Given the description of an element on the screen output the (x, y) to click on. 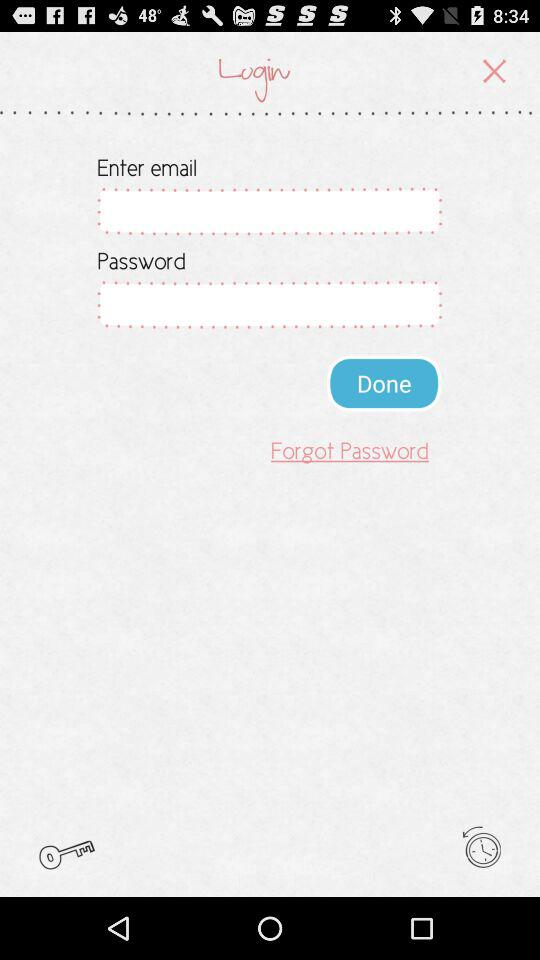
turn on icon above forgot password (384, 382)
